Given the description of an element on the screen output the (x, y) to click on. 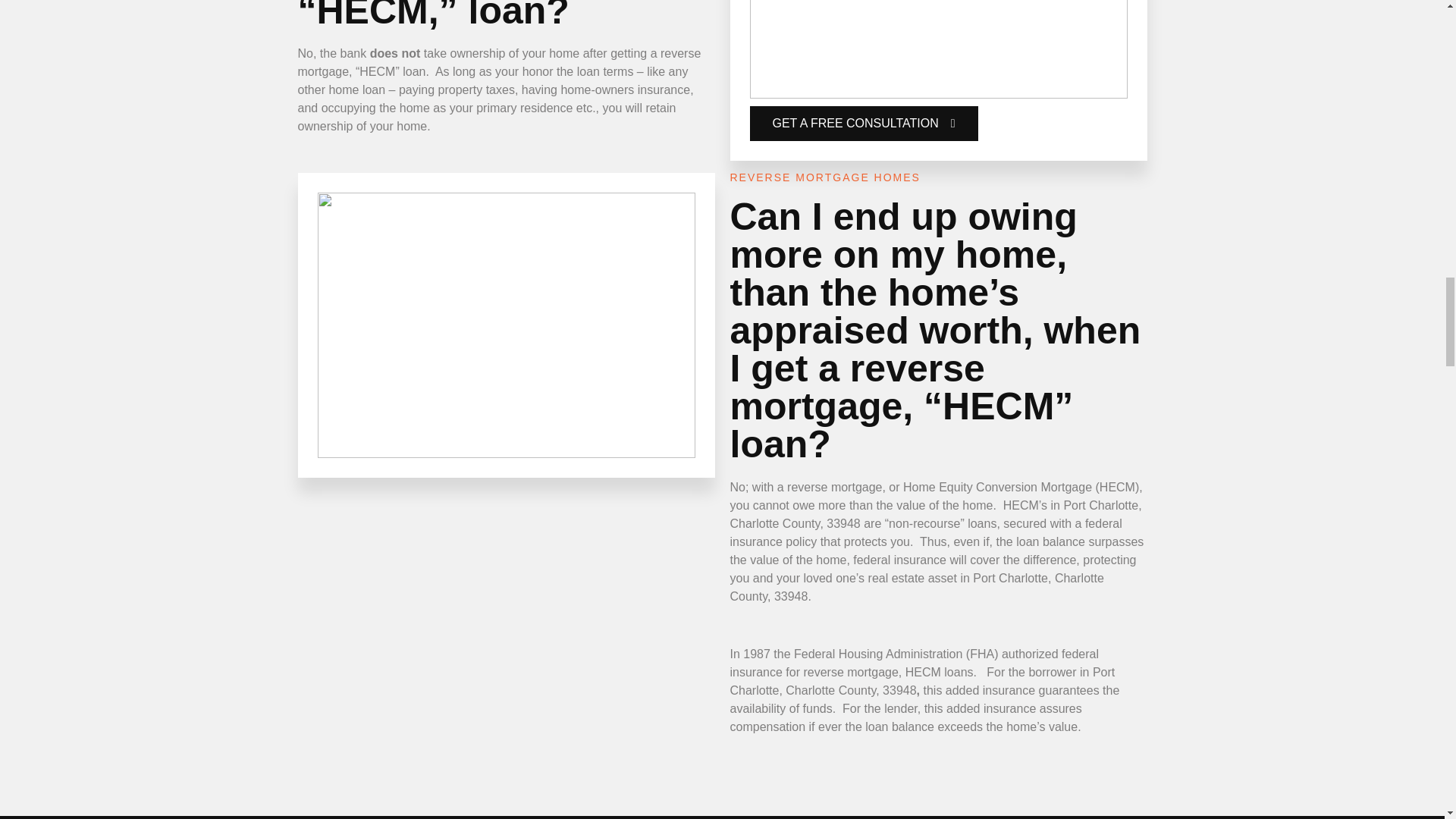
GET A FREE CONSULTATION (862, 123)
